Given the description of an element on the screen output the (x, y) to click on. 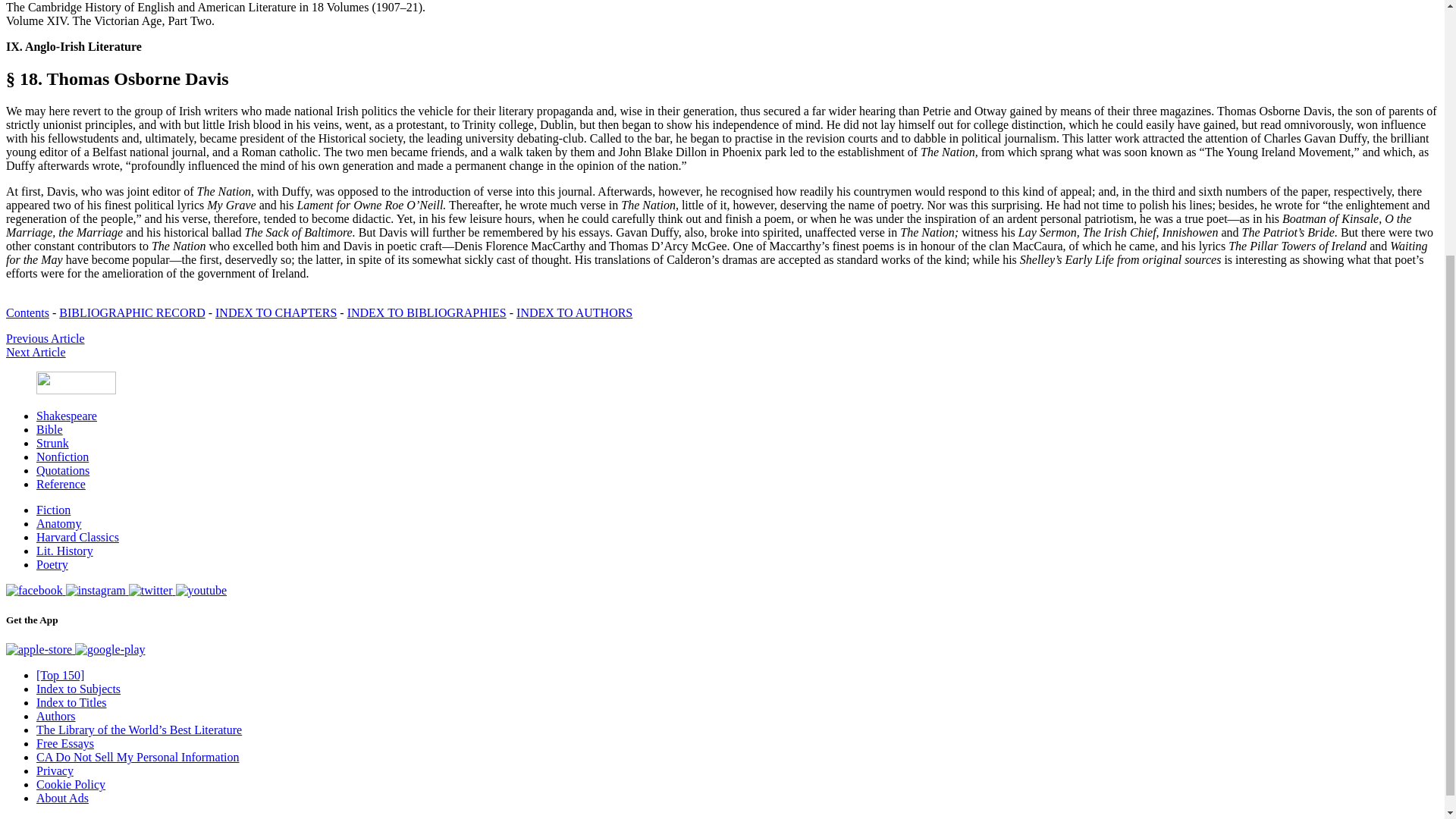
Contents (27, 312)
Bible (49, 429)
Next Article (35, 351)
INDEX TO CHAPTERS (275, 312)
Shakespeare (66, 415)
BIBLIOGRAPHIC RECORD (132, 312)
Quotations (62, 470)
Nonfiction (62, 456)
Strunk (52, 442)
INDEX TO AUTHORS (573, 312)
